Given the description of an element on the screen output the (x, y) to click on. 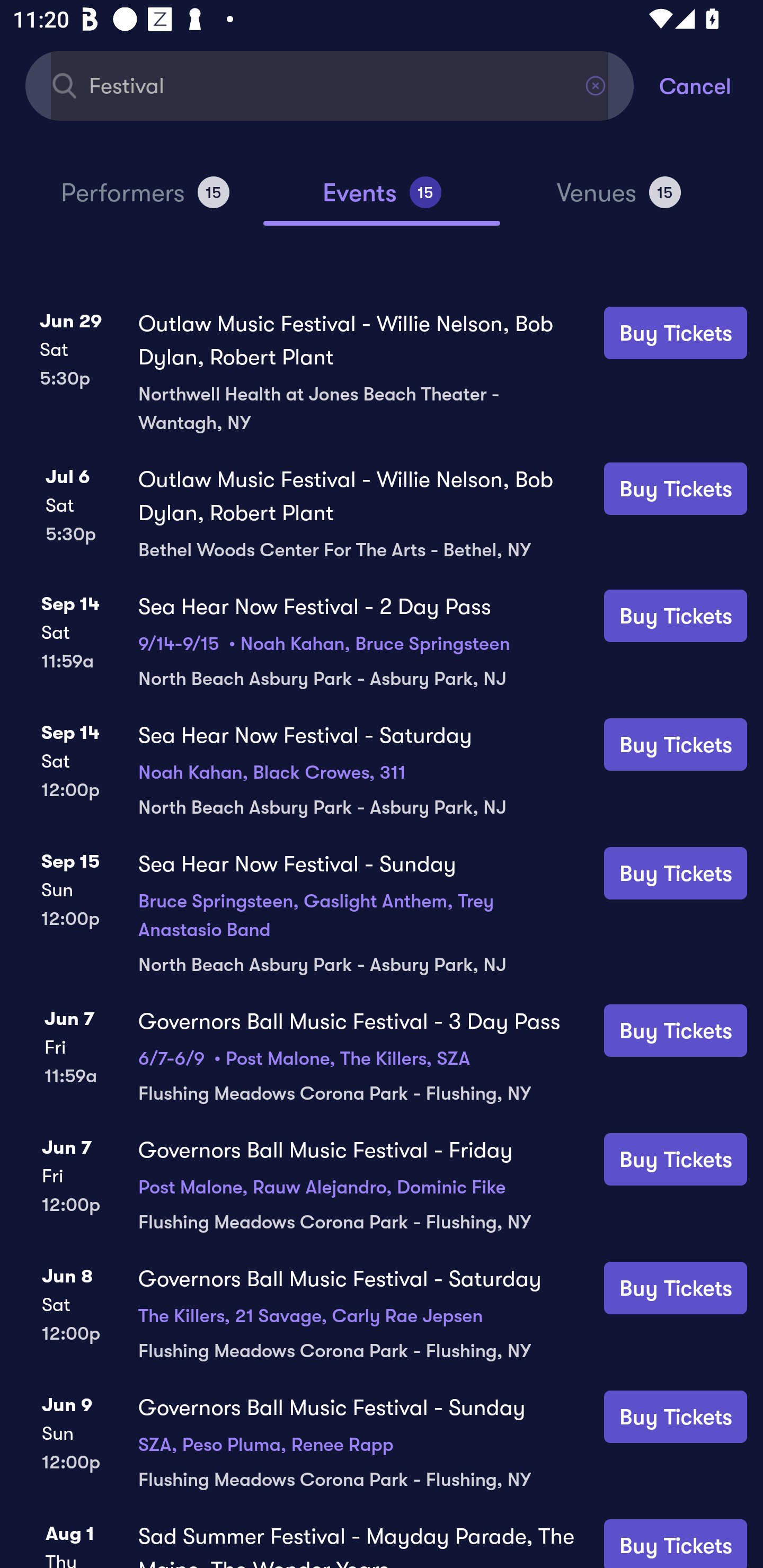
Festival Find (329, 85)
Festival Find (329, 85)
Cancel (711, 85)
Performers 15 (144, 200)
Events 15 (381, 200)
Venues 15 (618, 200)
